Given the description of an element on the screen output the (x, y) to click on. 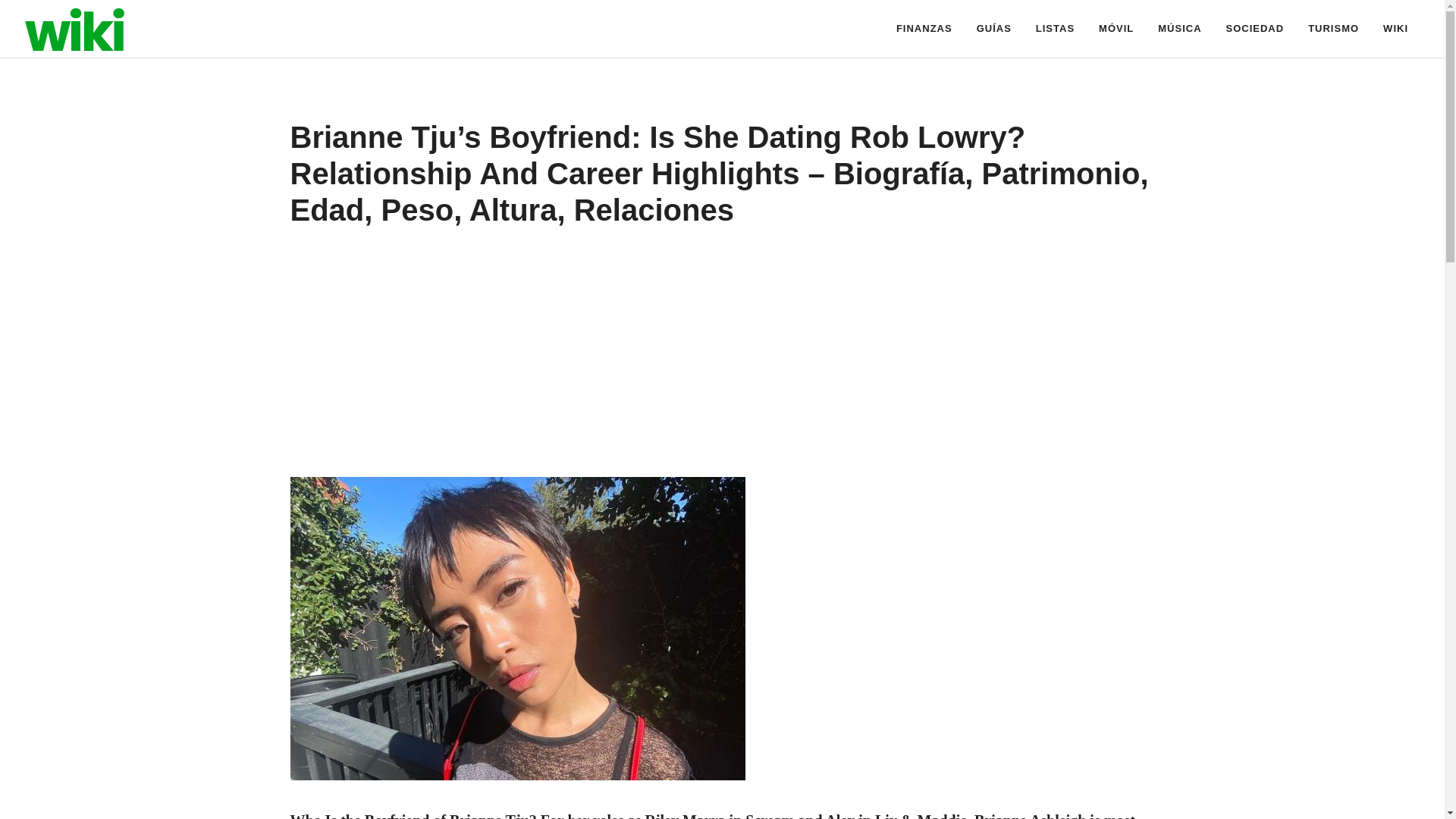
TURISMO (1333, 28)
SOCIEDAD (1255, 28)
FINANZAS (923, 28)
LISTAS (1054, 28)
WIKI (1396, 28)
